Given the description of an element on the screen output the (x, y) to click on. 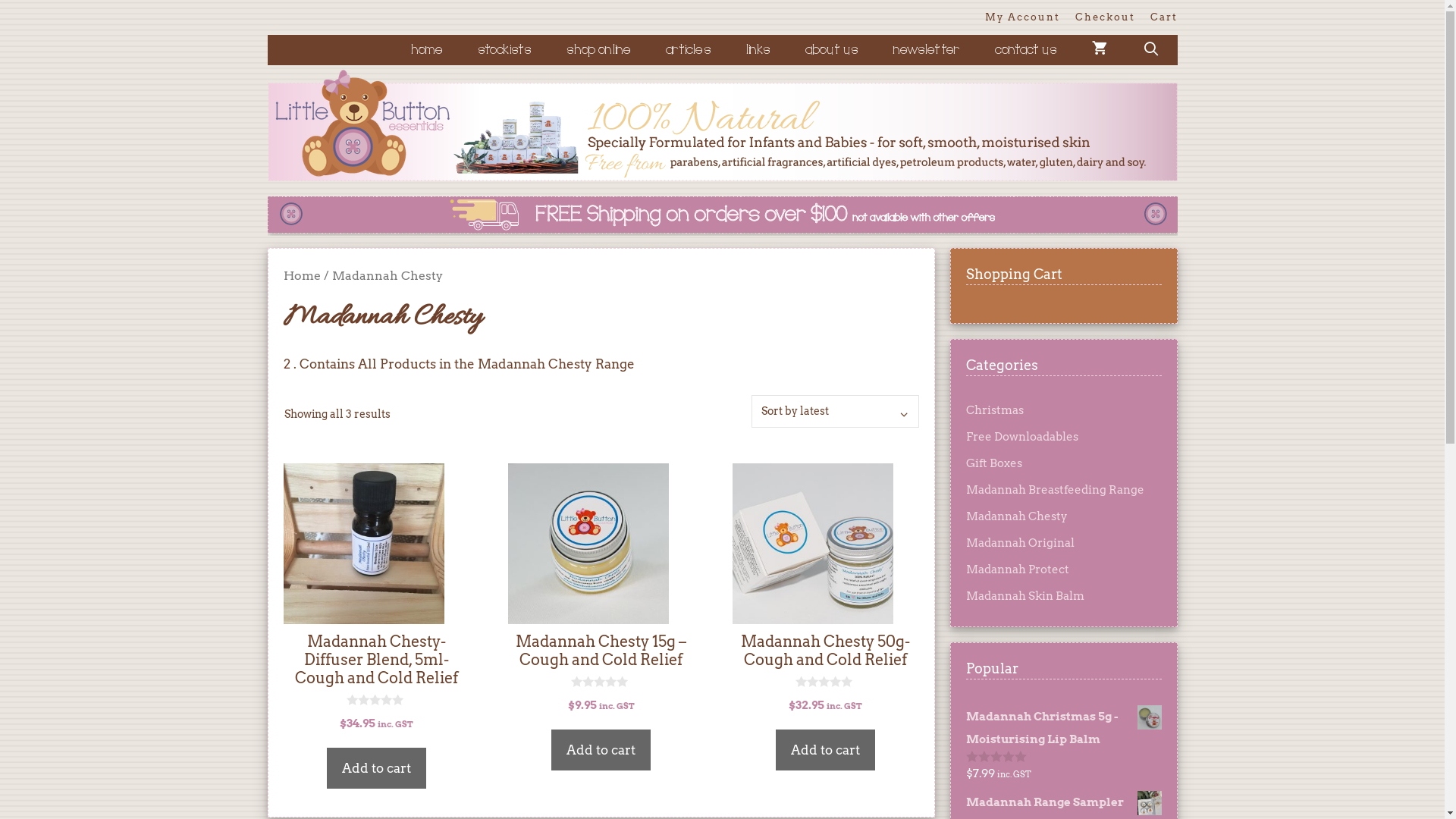
My Account Element type: text (1021, 16)
Rated 0 out of 5 Element type: hover (600, 681)
Cart Element type: text (1162, 16)
stockists Element type: text (504, 49)
Madannah Skin Balm Element type: text (1025, 595)
shop online Element type: text (598, 49)
Add to cart Element type: text (376, 767)
Gift Boxes Element type: text (994, 463)
Madannah Chesty Element type: text (1016, 516)
Christmas Element type: text (994, 410)
Madannah Chesty 50g- Cough and Cold Relief
$32.95 inc. GST Element type: text (825, 590)
Add to cart Element type: text (600, 749)
shop now for Maddannah Cream, happy bums for happy mums Element type: hover (721, 215)
Madannah Christmas 5g - Moisturising Lip Balm Element type: text (1063, 727)
Home Element type: text (301, 275)
Madannah Breastfeeding Range Element type: text (1055, 489)
links Element type: text (757, 49)
Madannah Protect Element type: text (1017, 569)
home Element type: text (427, 49)
newsletter Element type: text (926, 49)
Rated 0 out of 5 Element type: hover (376, 700)
View your shopping cart Element type: hover (1099, 49)
Checkout Element type: text (1105, 16)
Rated 0 out of 5 Element type: hover (825, 681)
articles Element type: text (688, 49)
contact us Element type: text (1025, 49)
about us Element type: text (831, 49)
Free Downloadables Element type: text (1022, 436)
Add to cart Element type: text (825, 749)
Rated 0 out of 5 Element type: hover (996, 756)
Madannah Original Element type: text (1020, 542)
